Given the description of an element on the screen output the (x, y) to click on. 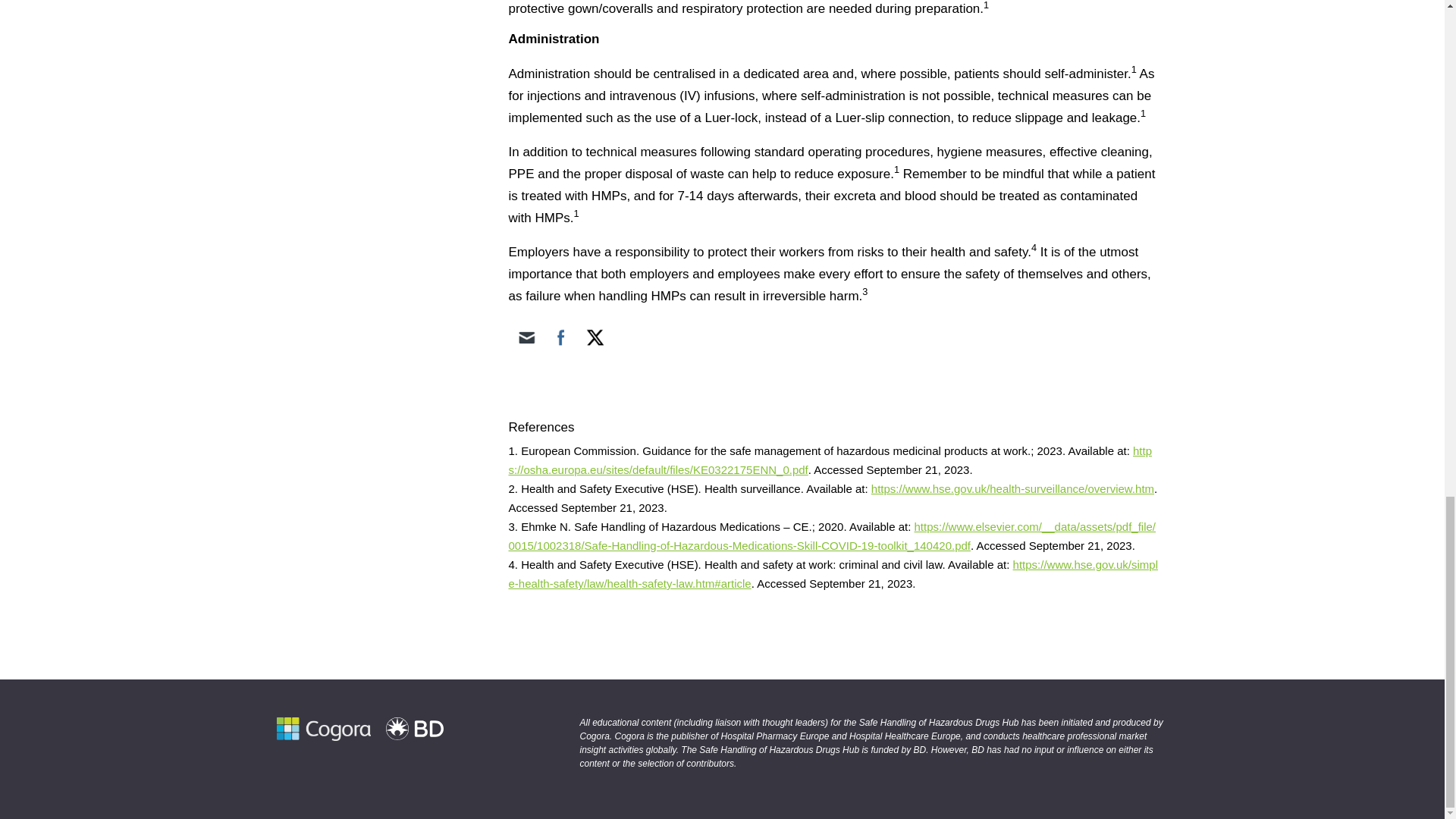
Facebook (561, 337)
Twitter (594, 337)
Follow by Email (526, 337)
